Given the description of an element on the screen output the (x, y) to click on. 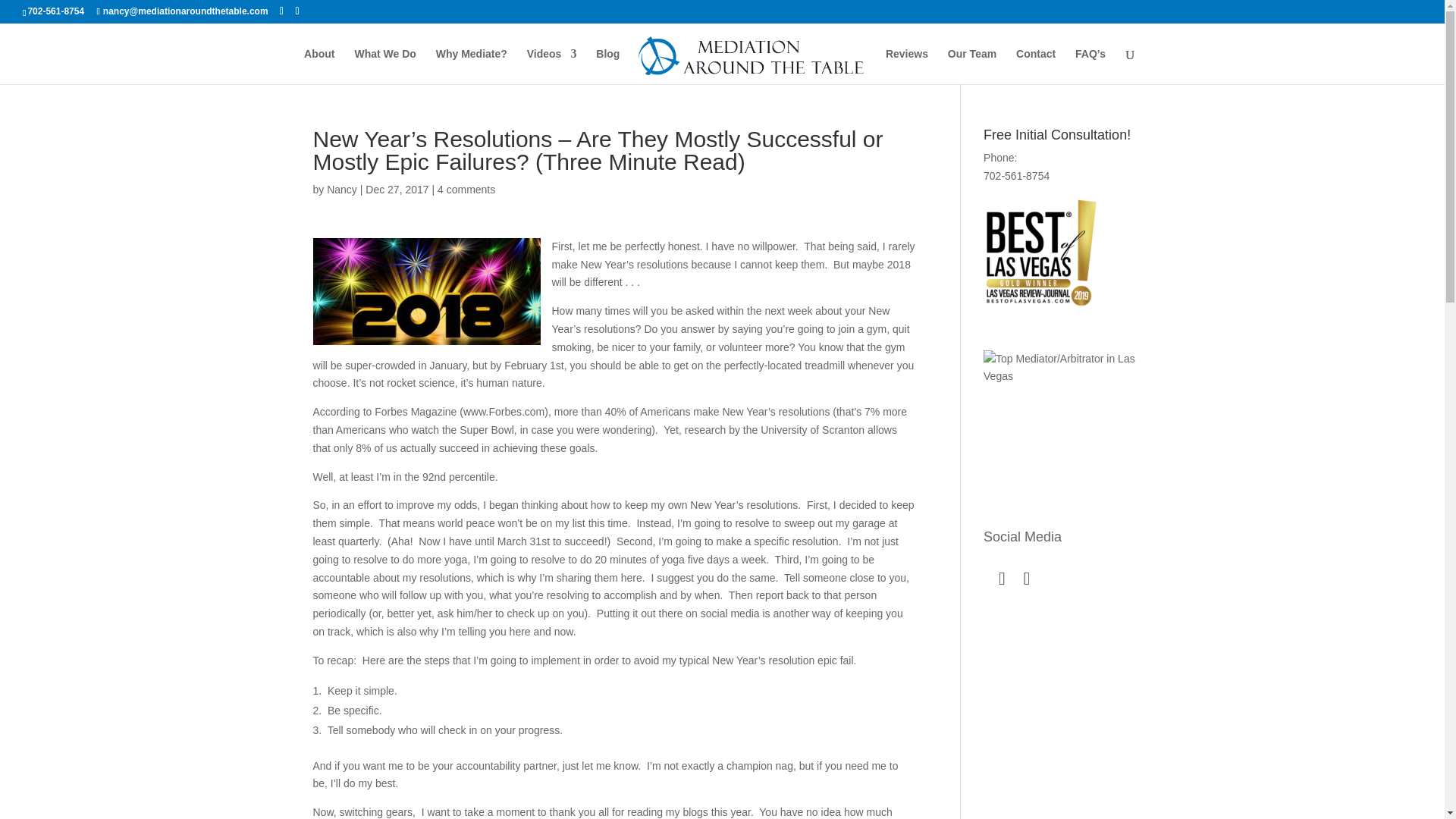
Our Team (971, 66)
Nancy (341, 189)
702-561-8754 (56, 10)
What We Do (383, 66)
Contact (1035, 66)
Why Mediate? (470, 66)
Reviews (906, 66)
Videos (551, 66)
Posts by Nancy (341, 189)
